Given the description of an element on the screen output the (x, y) to click on. 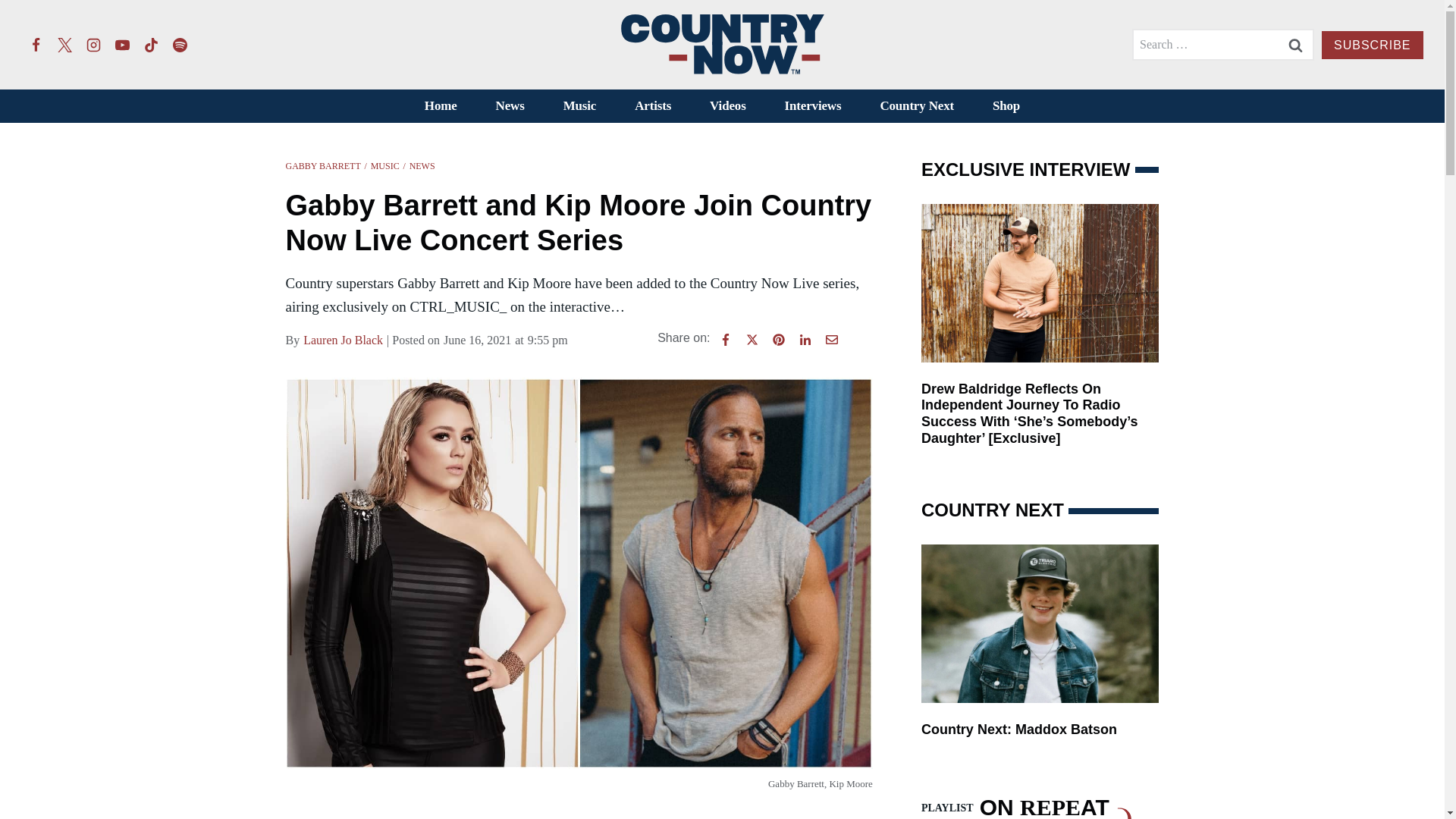
Country Next (917, 105)
NEWS (422, 165)
Search (1295, 44)
Lauren Jo Black (342, 340)
Videos (727, 105)
Shop (1005, 105)
Search (1295, 44)
Interviews (812, 105)
GABBY BARRETT (322, 165)
MUSIC (384, 165)
Music (579, 105)
Artists (652, 105)
Home (440, 105)
SUBSCRIBE (1372, 44)
News (509, 105)
